Given the description of an element on the screen output the (x, y) to click on. 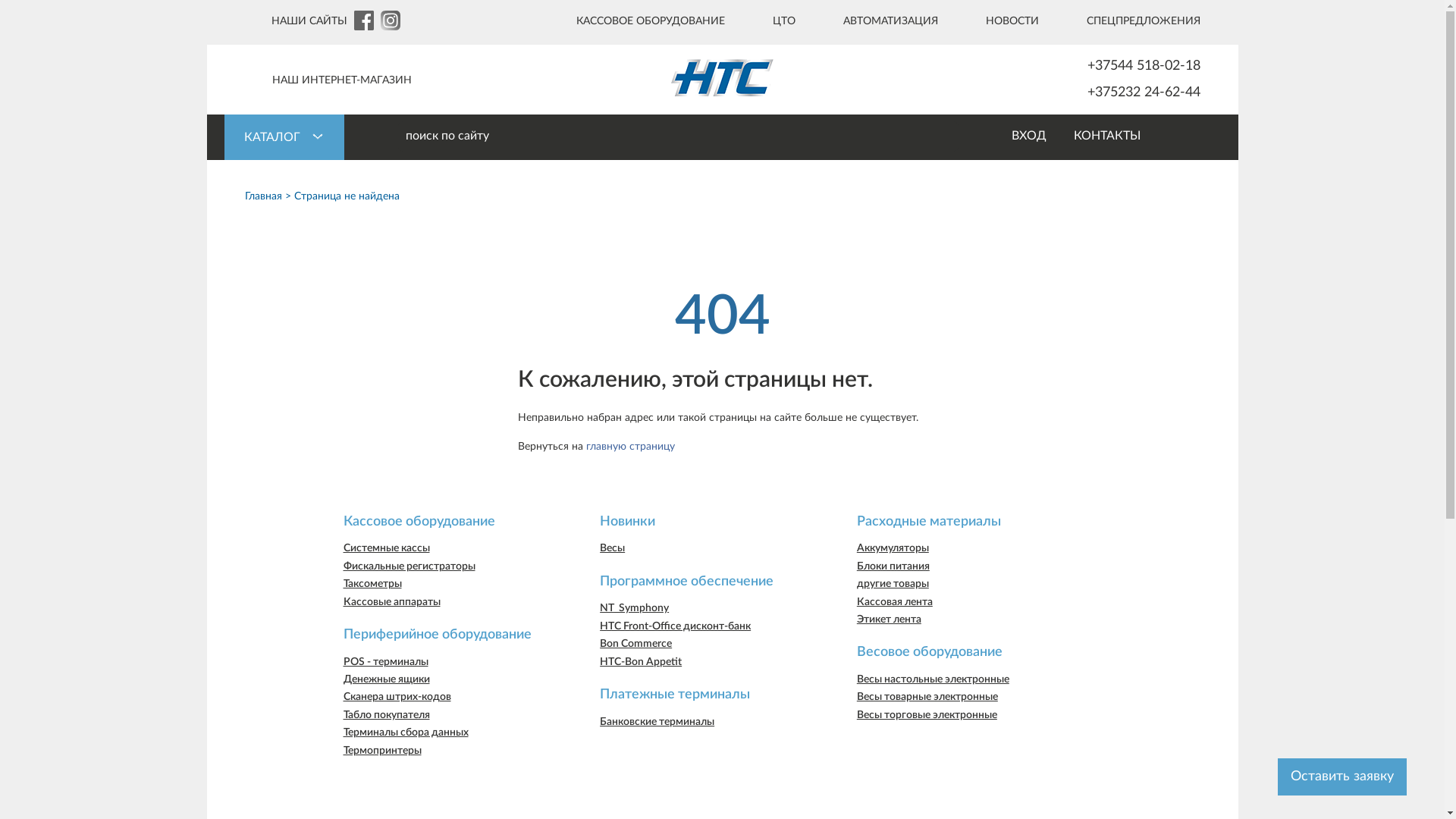
NT_Symphony Element type: text (633, 607)
+375232 24-62-44 Element type: text (1112, 92)
Bon Commerce Element type: text (635, 643)
+37544 518-02-18 Element type: text (1112, 66)
